Given the description of an element on the screen output the (x, y) to click on. 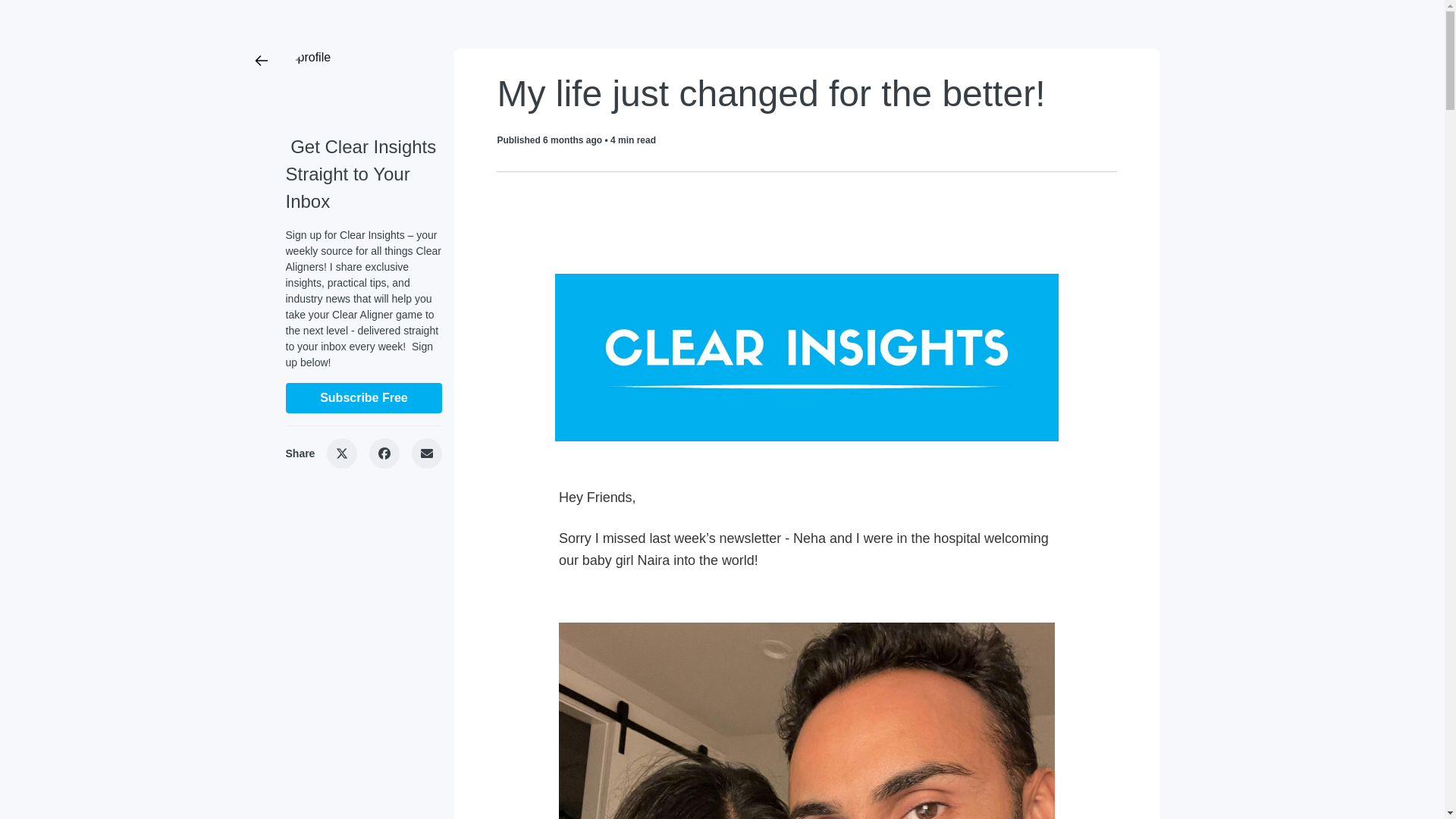
Arrow Left (260, 60)
Subscribe Free (363, 398)
Arrow Left (260, 60)
